Given the description of an element on the screen output the (x, y) to click on. 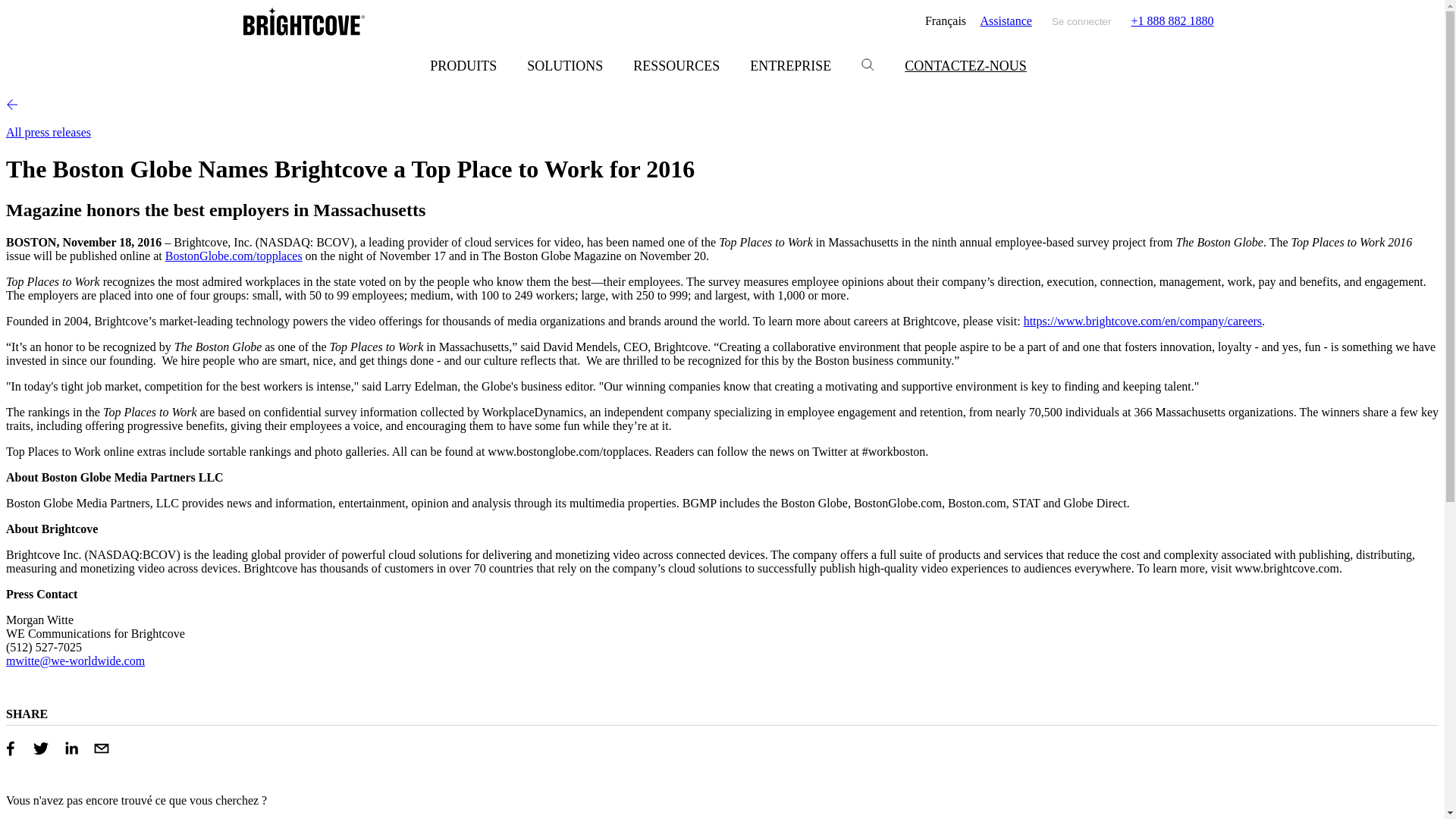
CONTACTEZ-NOUS (965, 66)
SEARCH ICONA MAGNIFYING GLASS ICON. (868, 64)
Se connecter (1081, 21)
Assistance (1005, 20)
